Given the description of an element on the screen output the (x, y) to click on. 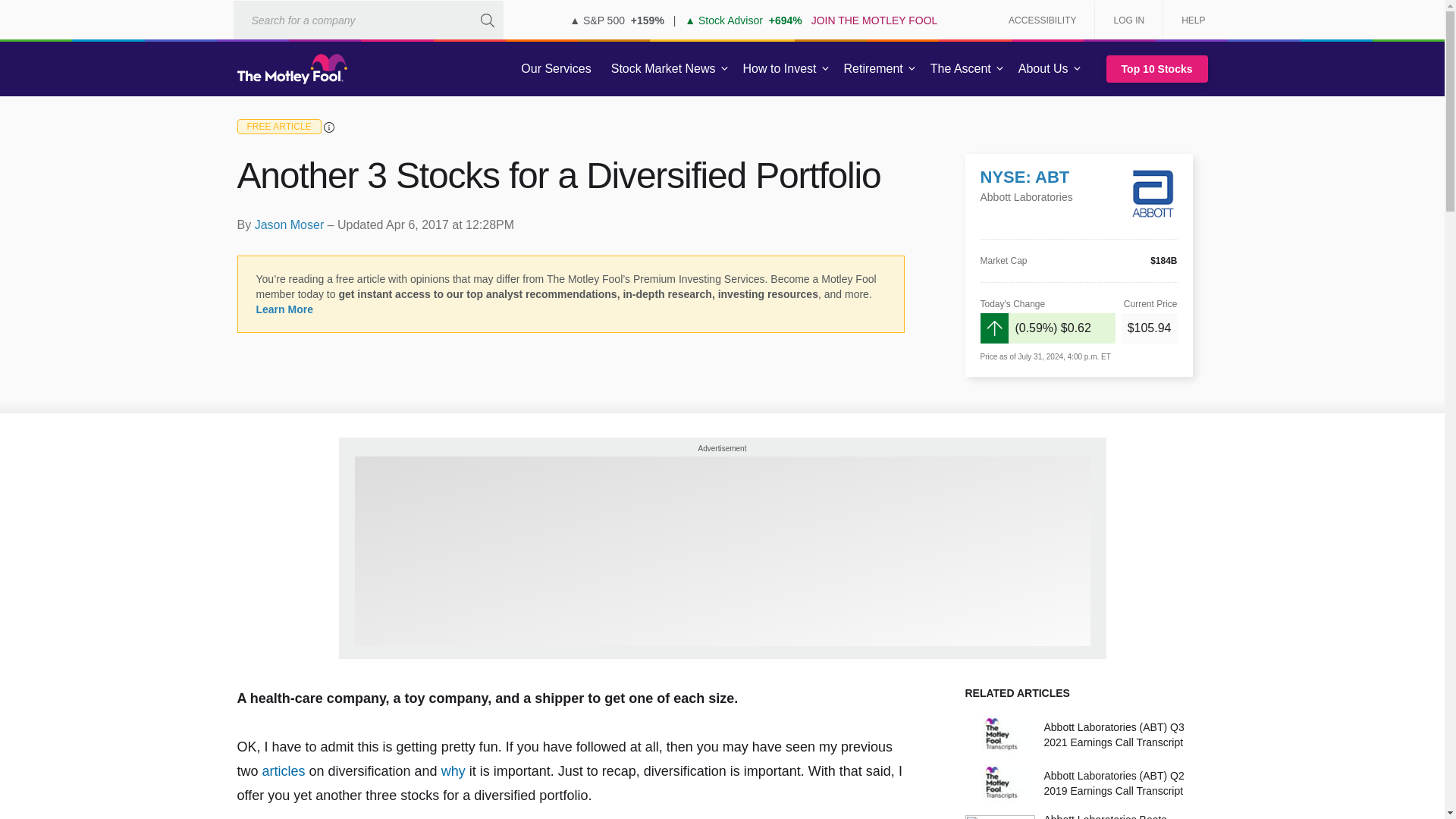
How to Invest (779, 68)
LOG IN (1128, 19)
Stock Market News (662, 68)
HELP (1187, 19)
Our Services (555, 68)
ACCESSIBILITY (1042, 19)
